Given the description of an element on the screen output the (x, y) to click on. 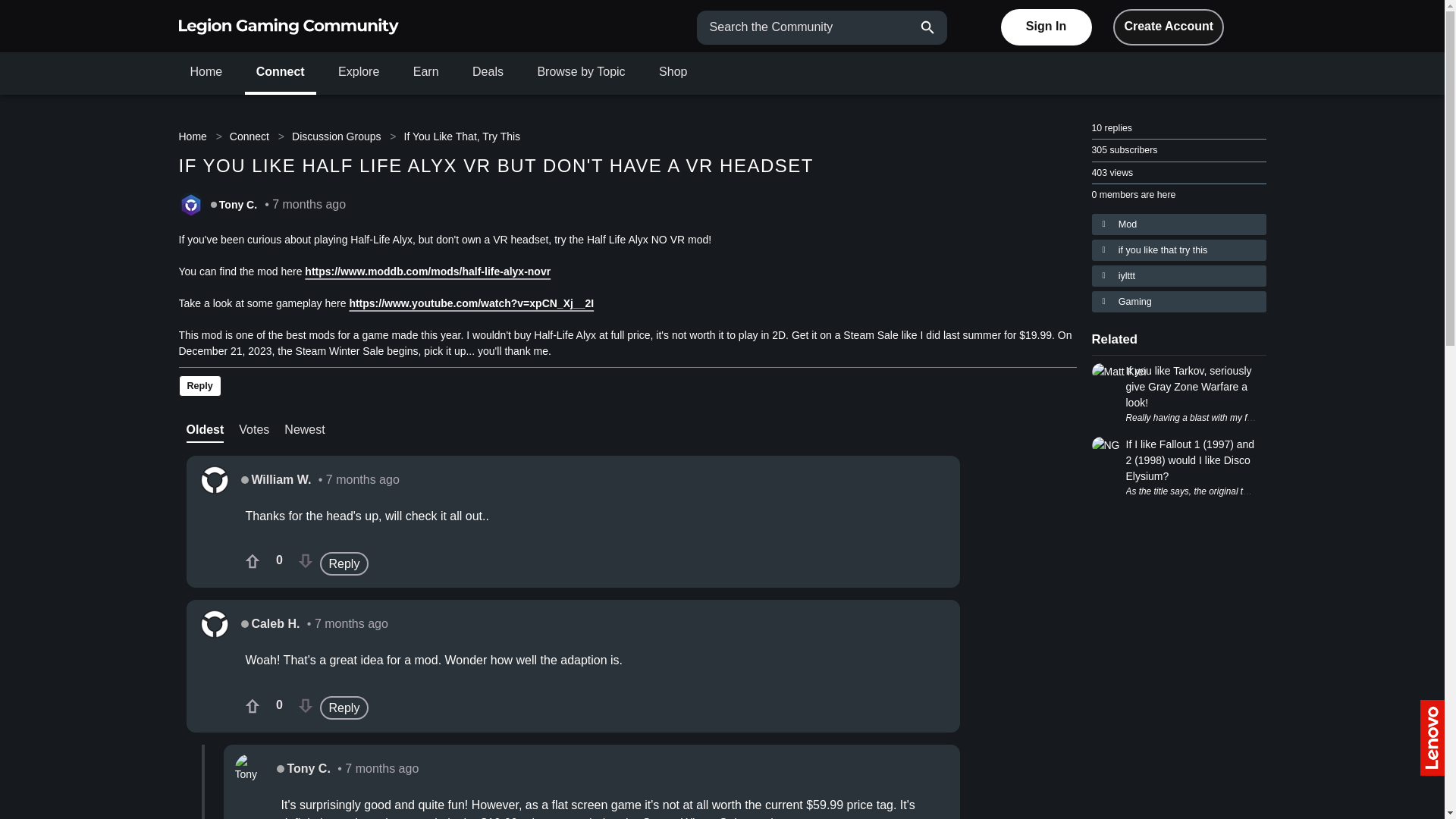
Discussion Groups (335, 136)
iylttt (1179, 275)
Create Account (1169, 27)
If you like Tarkov, seriously give Gray Zone Warfare a look! (1191, 387)
Connect (249, 136)
Explore (357, 71)
Mod (1179, 224)
Connect (280, 71)
if you like that try this (1179, 250)
Gaming (1179, 301)
Browse by Topic (580, 71)
Tony C. (238, 204)
Sign In (1046, 27)
Home (196, 136)
If You Like That, Try This (462, 136)
